Given the description of an element on the screen output the (x, y) to click on. 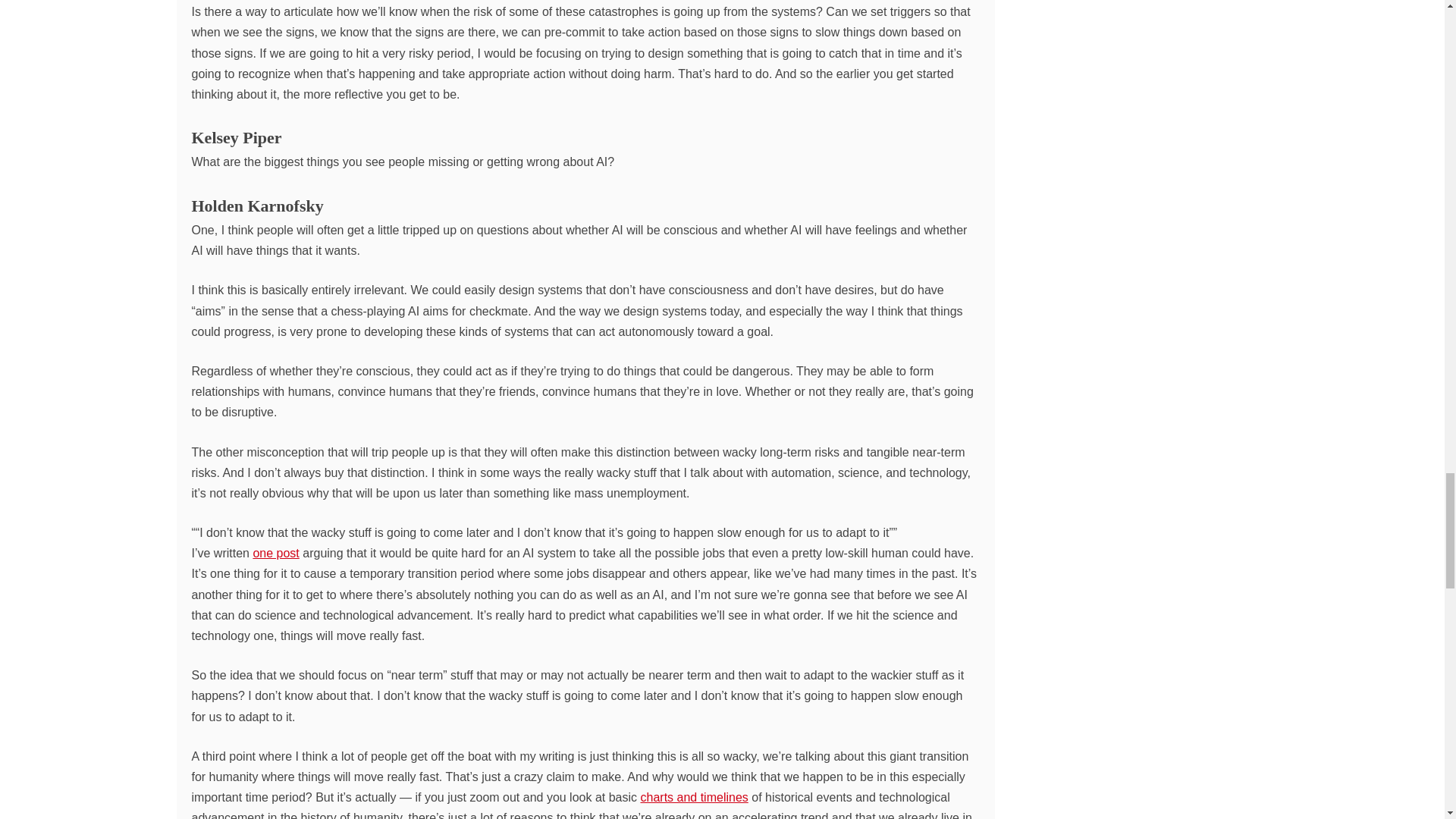
one post (274, 553)
charts and timelines (694, 797)
